Given the description of an element on the screen output the (x, y) to click on. 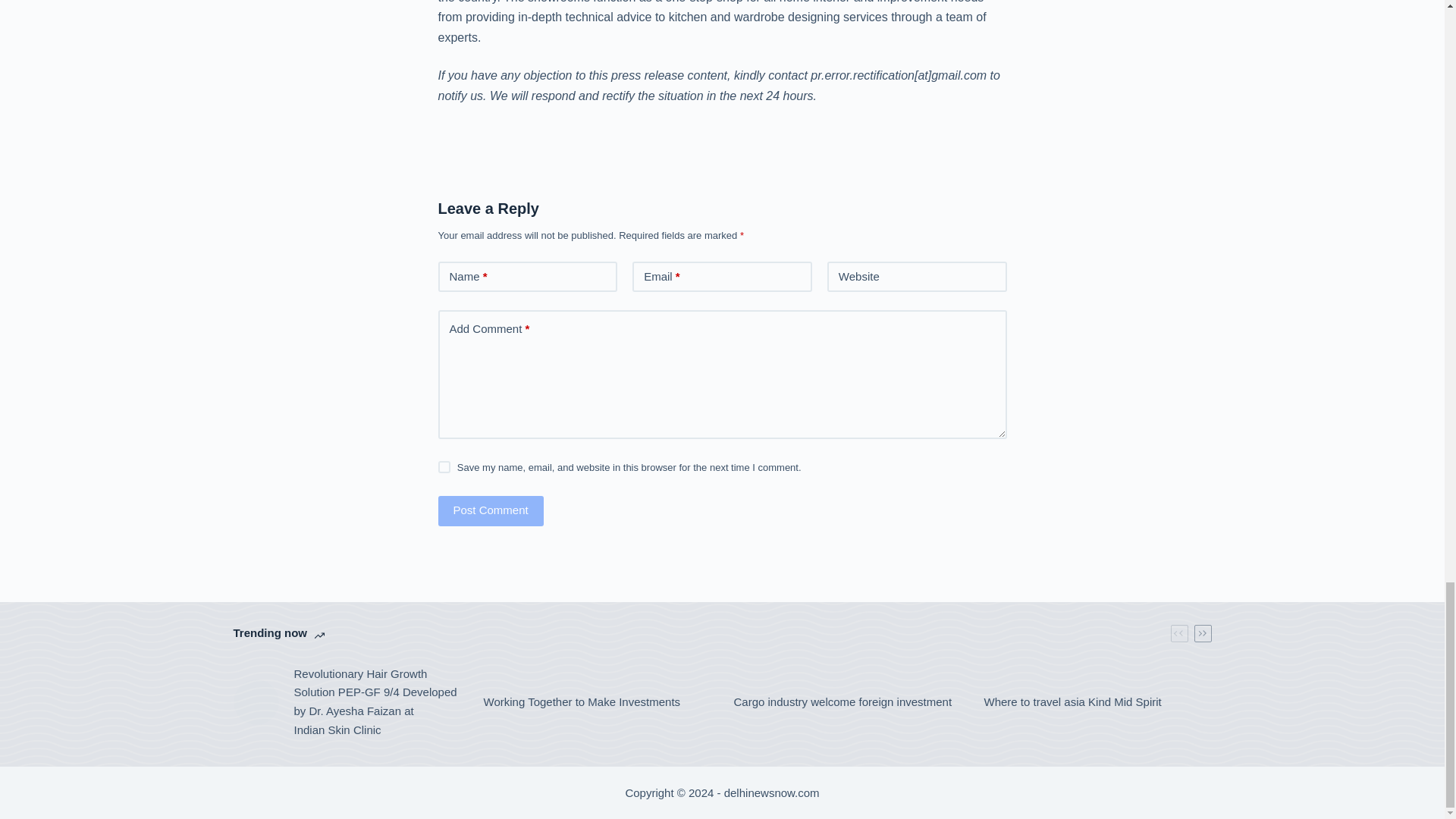
Post Comment (490, 511)
Working Together to Make Investments (582, 701)
Where to travel asia Kind Mid Spirit (1072, 701)
Cargo industry welcome foreign investment (842, 701)
yes (443, 467)
